Given the description of an element on the screen output the (x, y) to click on. 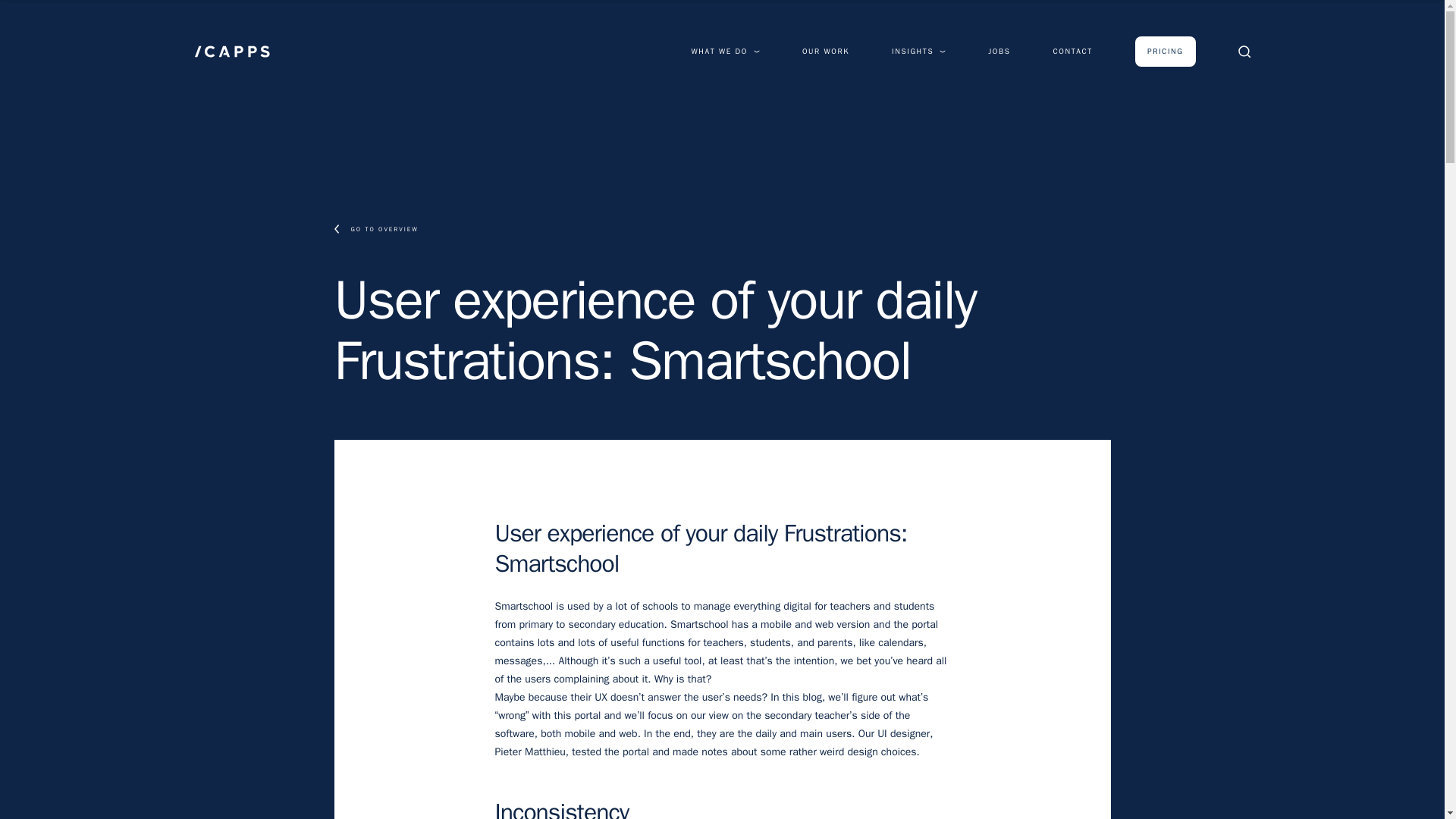
PRICING (1165, 51)
CONTACT (1072, 51)
WHAT WE DO (725, 51)
GO TO OVERVIEW (721, 228)
OUR WORK (825, 51)
INSIGHTS (917, 51)
